Given the description of an element on the screen output the (x, y) to click on. 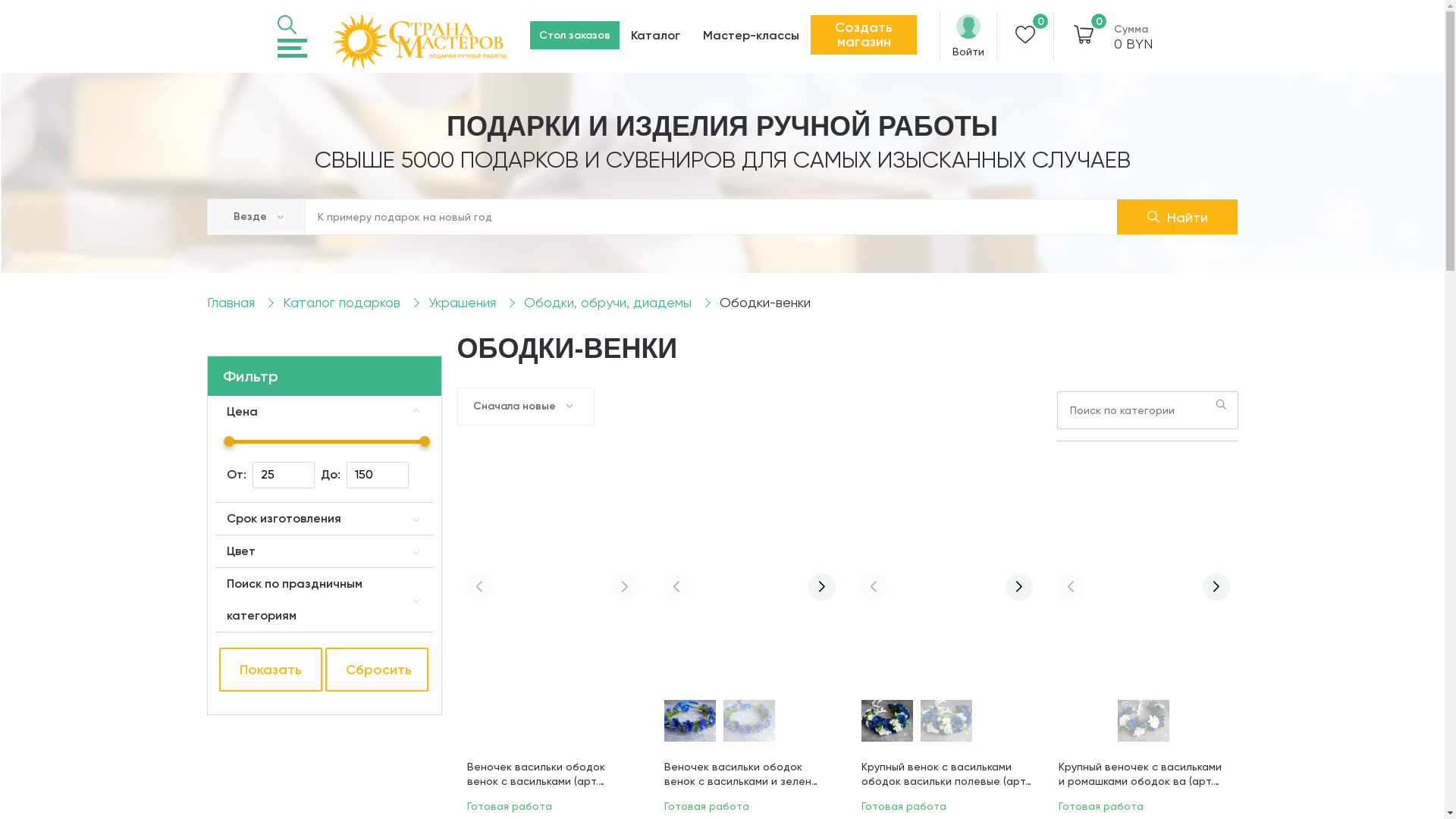
0 Element type: text (1025, 36)
0 Element type: text (1083, 36)
